Given the description of an element on the screen output the (x, y) to click on. 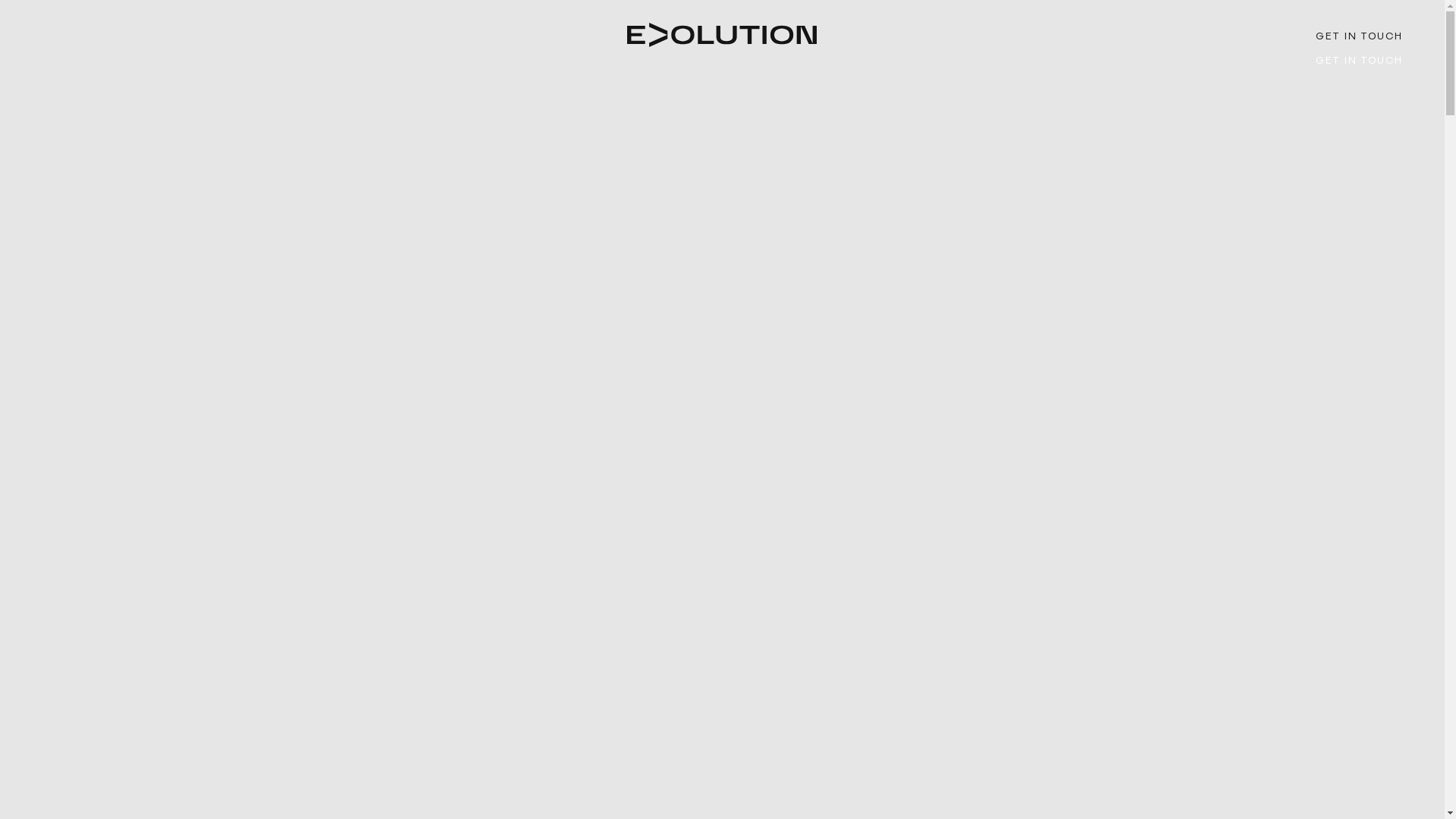
GET IN TOUCH Element type: text (1358, 59)
GET IN TOUCH Element type: text (1358, 34)
